Given the description of an element on the screen output the (x, y) to click on. 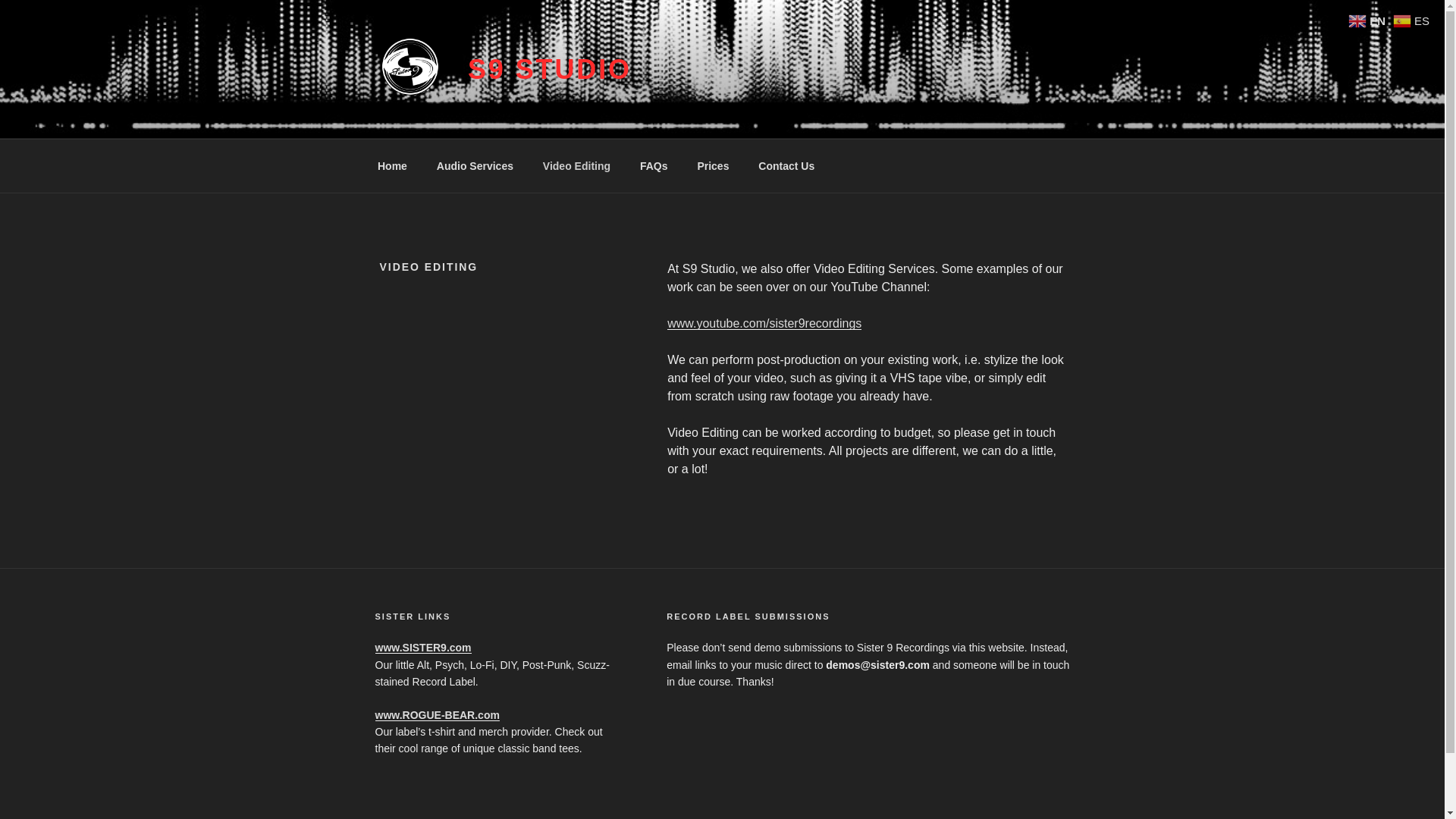
Home (392, 165)
www.SISTER9.com (422, 647)
S9 STUDIO (549, 69)
English (1368, 19)
Spanish (1412, 19)
www.ROGUE-BEAR.com (436, 715)
FAQs (653, 165)
Video Editing (576, 165)
Prices (713, 165)
EN (1368, 19)
